Given the description of an element on the screen output the (x, y) to click on. 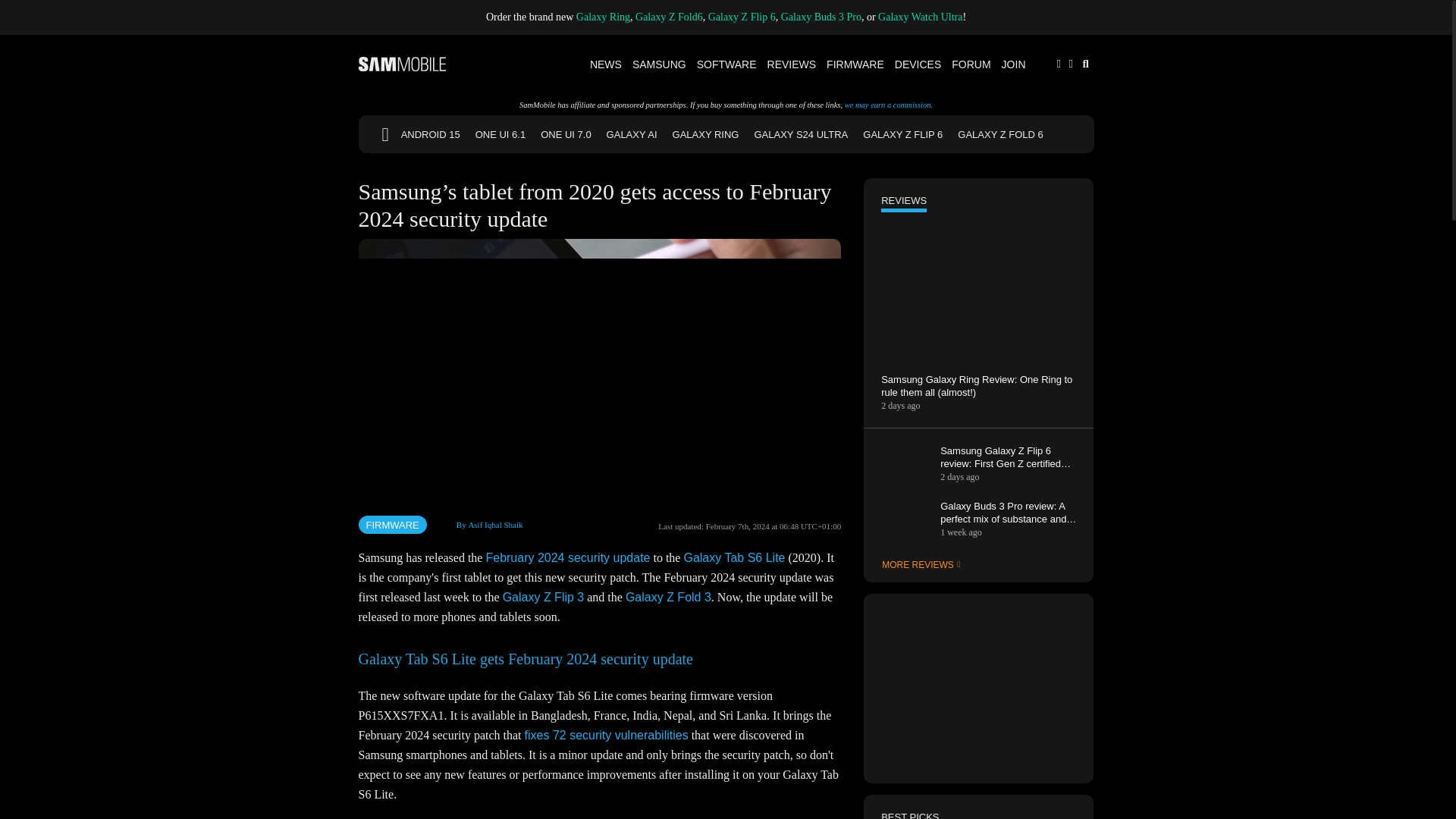
Galaxy Z Fold6 (668, 16)
SamMobile logo (401, 63)
SAMSUNG (659, 64)
Samsung (659, 64)
Galaxy Z Flip 6 (741, 16)
Galaxy Buds 3 Pro (820, 16)
Galaxy Watch Ultra (919, 16)
Galaxy Ring (603, 16)
